Given the description of an element on the screen output the (x, y) to click on. 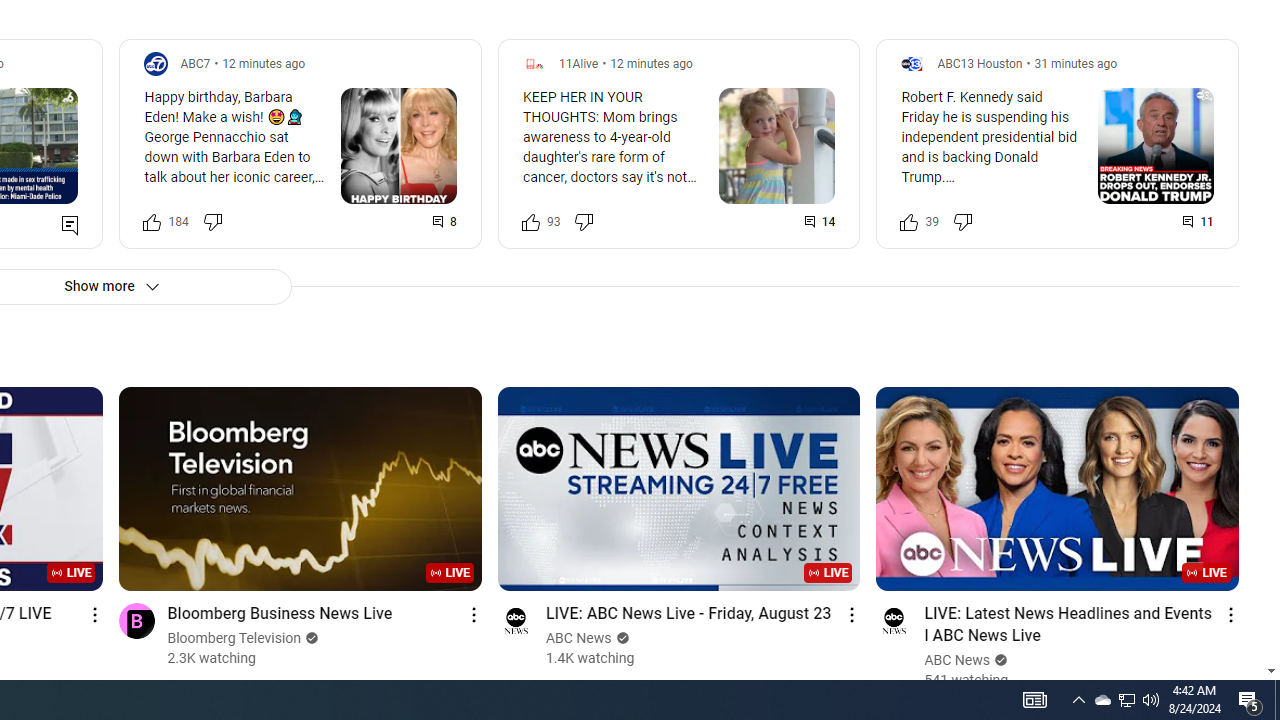
Comment (1199, 221)
Like this post along with 39 other people (909, 221)
ABC13 Houston (979, 63)
ABC News (958, 660)
Like this post along with 93 other people (530, 221)
Go to channel (893, 620)
31 minutes ago (1075, 63)
ABC7 (195, 63)
12 minutes ago (651, 63)
